Given the description of an element on the screen output the (x, y) to click on. 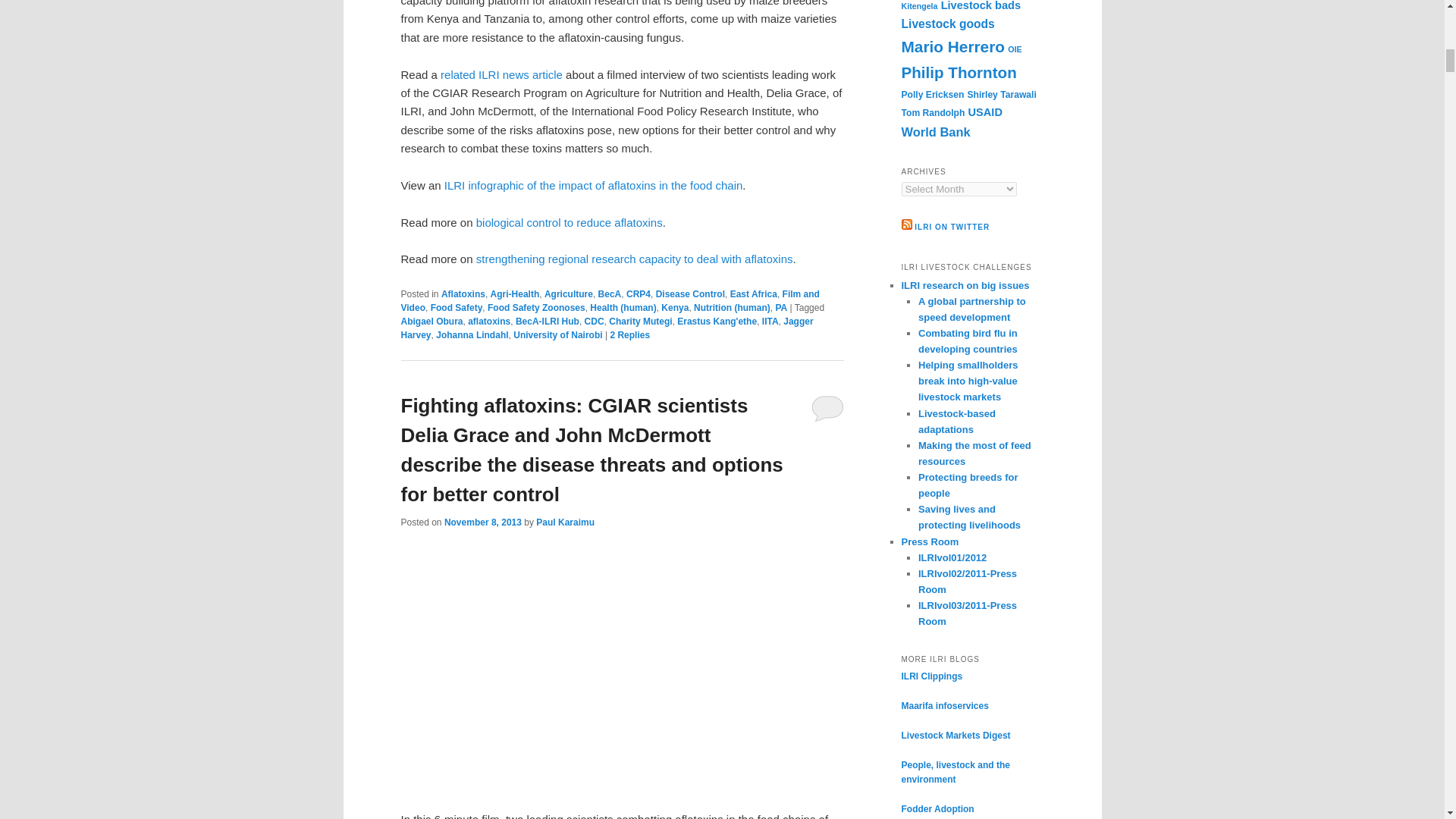
Agri-Health (515, 294)
Food Safety (456, 307)
East Africa (753, 294)
BecA-ILRI Hub (547, 321)
PA (780, 307)
Food Safety Zoonoses (536, 307)
Disease Control (690, 294)
biological control to reduce aflatoxins (569, 222)
4:49 pm (482, 521)
CDC (594, 321)
